Given the description of an element on the screen output the (x, y) to click on. 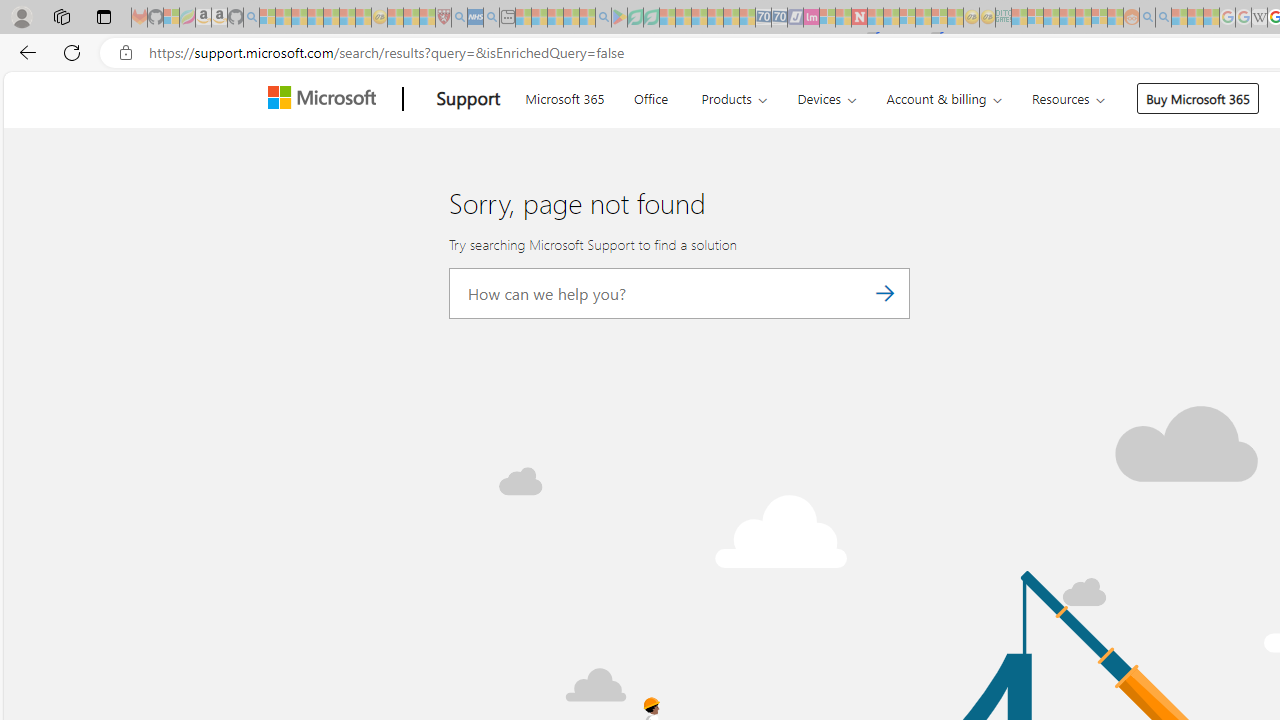
Latest Politics News & Archive | Newsweek.com - Sleeping (859, 17)
The Weather Channel - MSN - Sleeping (299, 17)
Jobs - lastminute.com Investor Portal - Sleeping (811, 17)
Terms of Use Agreement - Sleeping (635, 17)
